Given the description of an element on the screen output the (x, y) to click on. 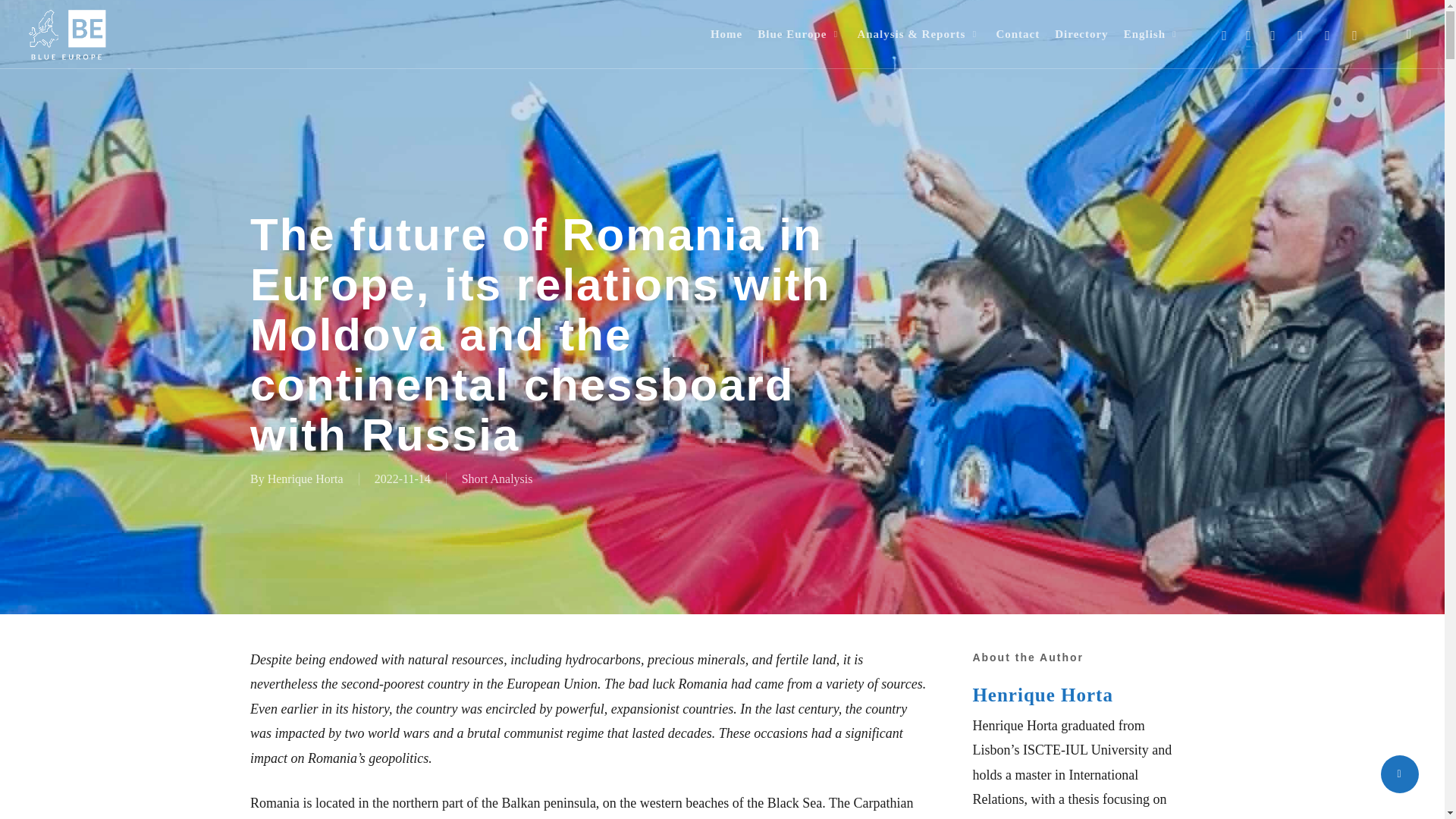
Blue Europe (798, 34)
Instagram (1354, 34)
Contact (1017, 34)
RSS (1300, 34)
Short Analysis (496, 478)
Facebook (1249, 34)
Henrique Horta (305, 478)
Posts by Henrique Horta (305, 478)
English (1152, 34)
Linkedin (1273, 34)
Home (726, 34)
Google-Plus (1327, 34)
search (1408, 33)
Twitter (1225, 34)
Directory (1080, 34)
